Given the description of an element on the screen output the (x, y) to click on. 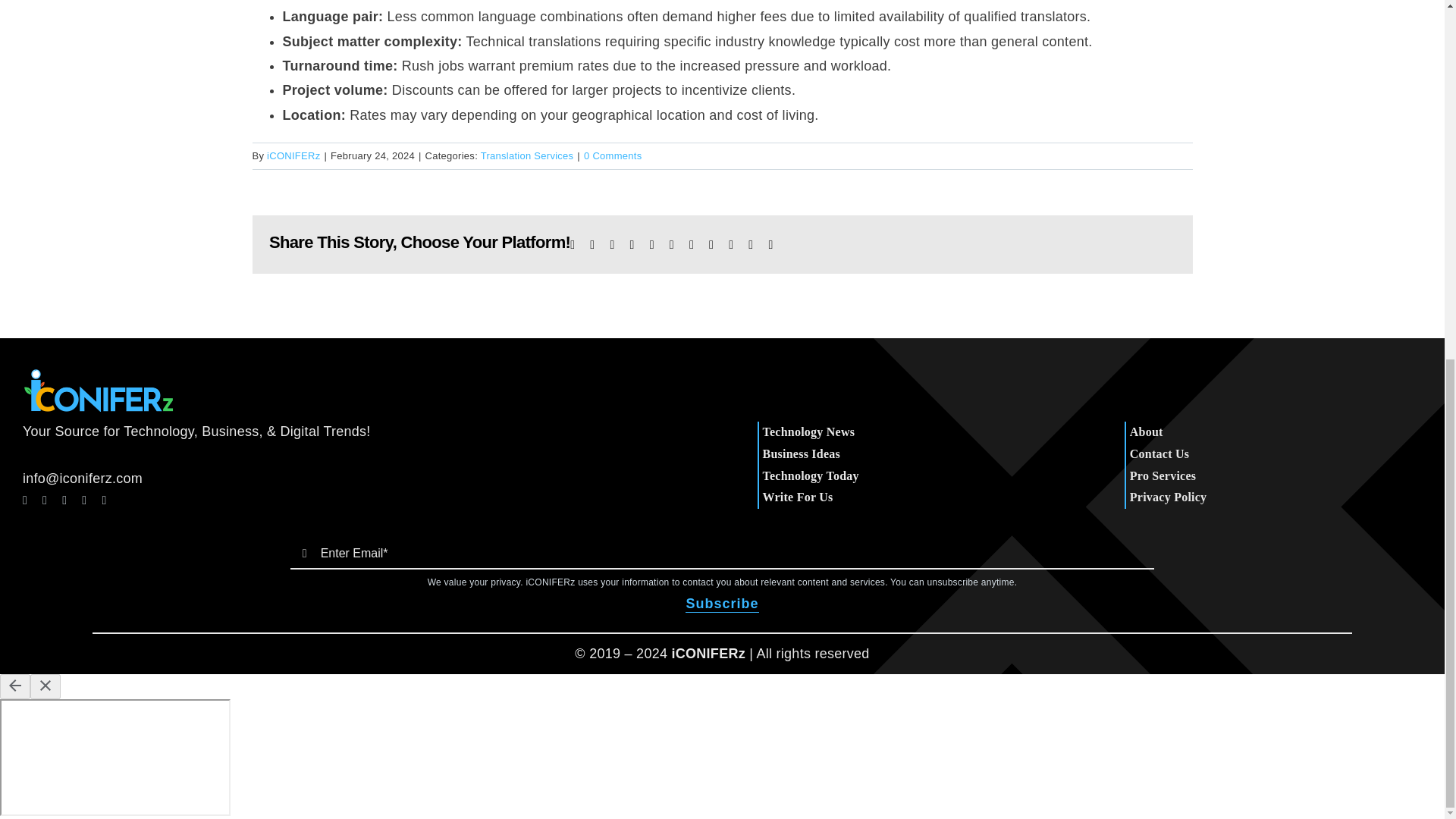
Translation Services (526, 155)
Posts by iCONIFERz (293, 155)
0 Comments (612, 155)
iCONIFERz (293, 155)
